Given the description of an element on the screen output the (x, y) to click on. 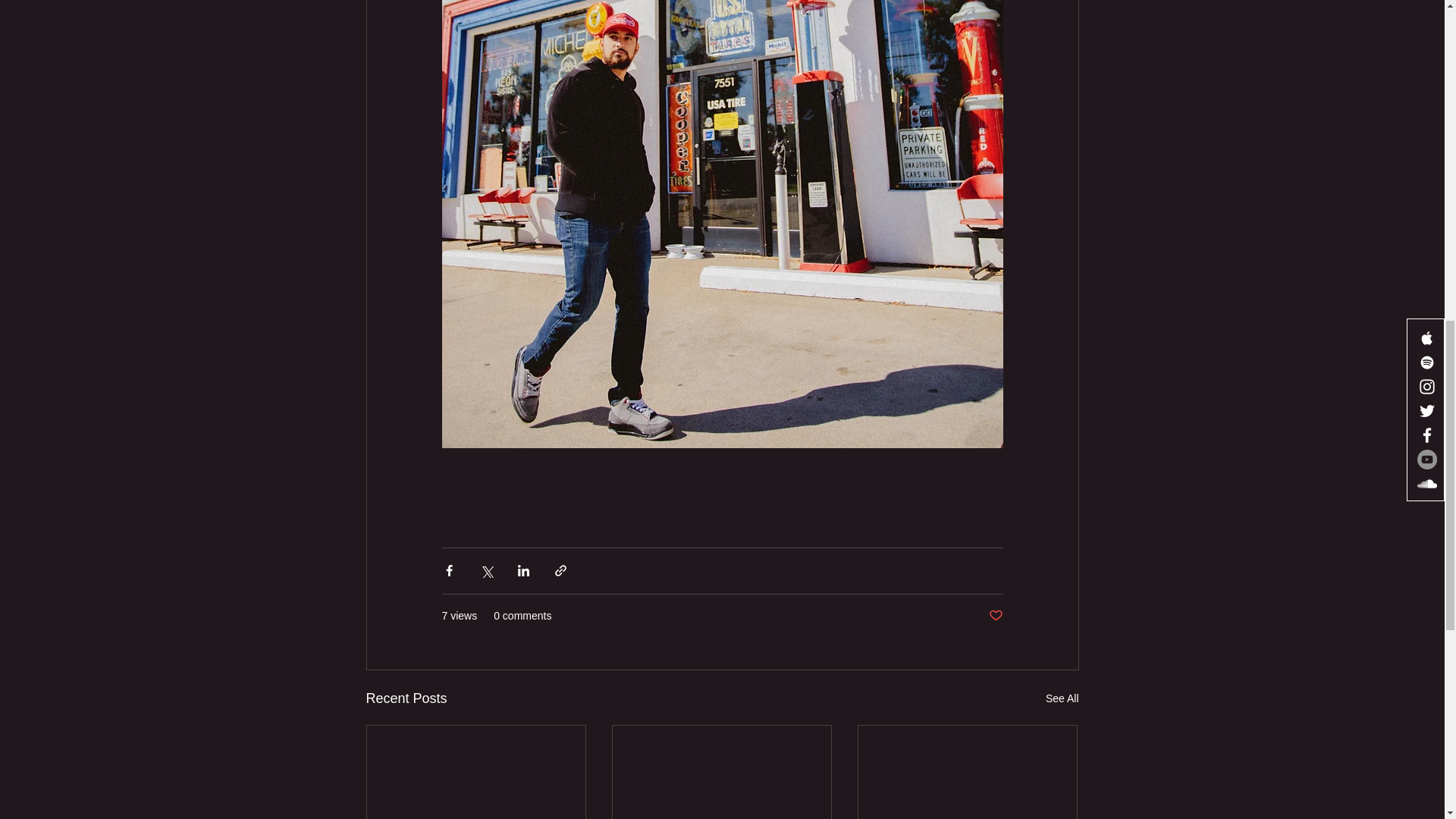
See All (1061, 698)
Post not marked as liked (995, 616)
